Given the description of an element on the screen output the (x, y) to click on. 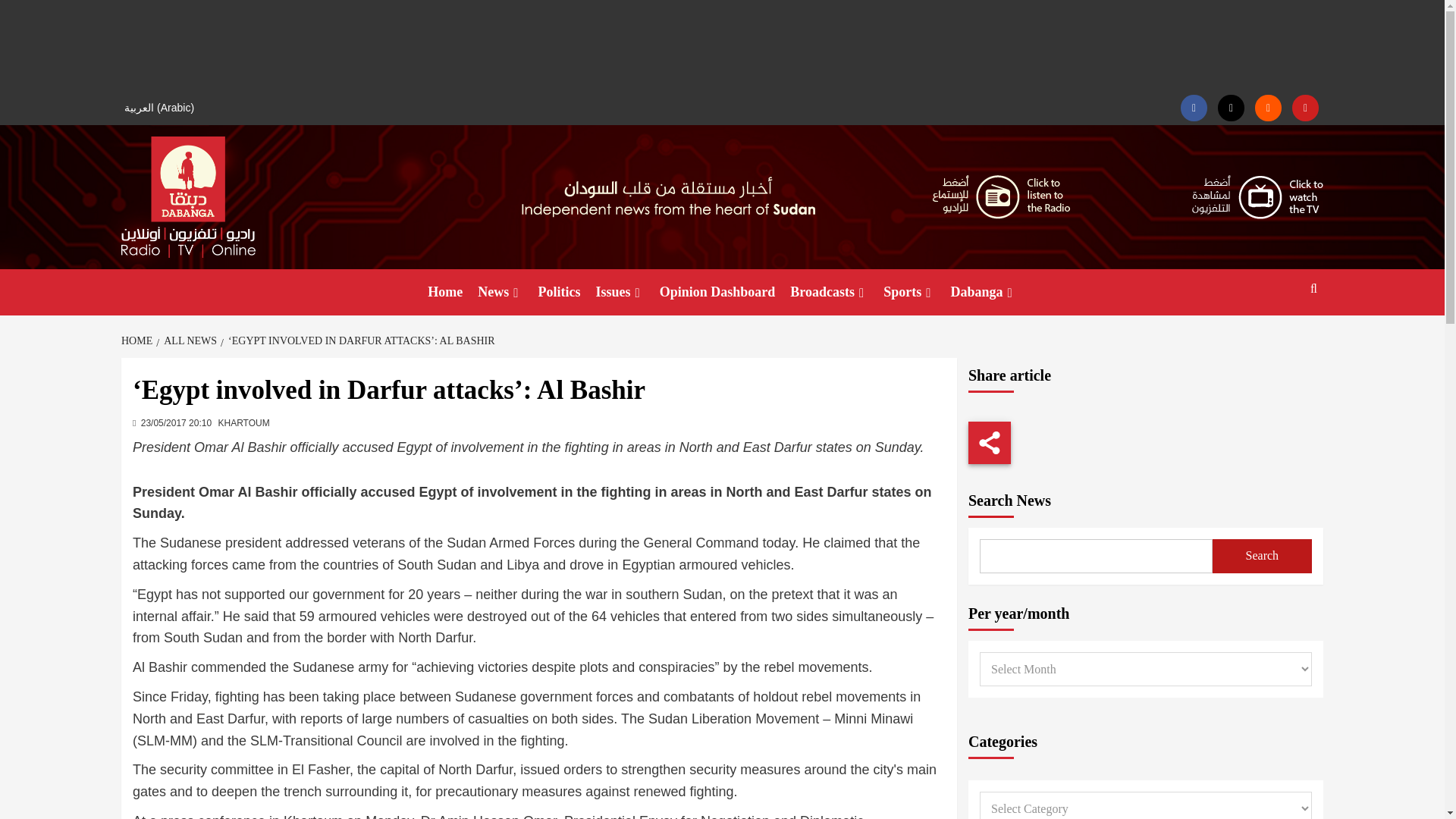
News (499, 292)
Advertisement (722, 45)
Twitter (1230, 108)
Arabic (161, 107)
Youtube (1305, 108)
Opinion Dashboard (717, 292)
Broadcasts (829, 292)
Politics (559, 292)
Soundcloud (1268, 108)
Facebook (1193, 108)
Sports (909, 292)
Issues (620, 292)
Home (445, 292)
